Given the description of an element on the screen output the (x, y) to click on. 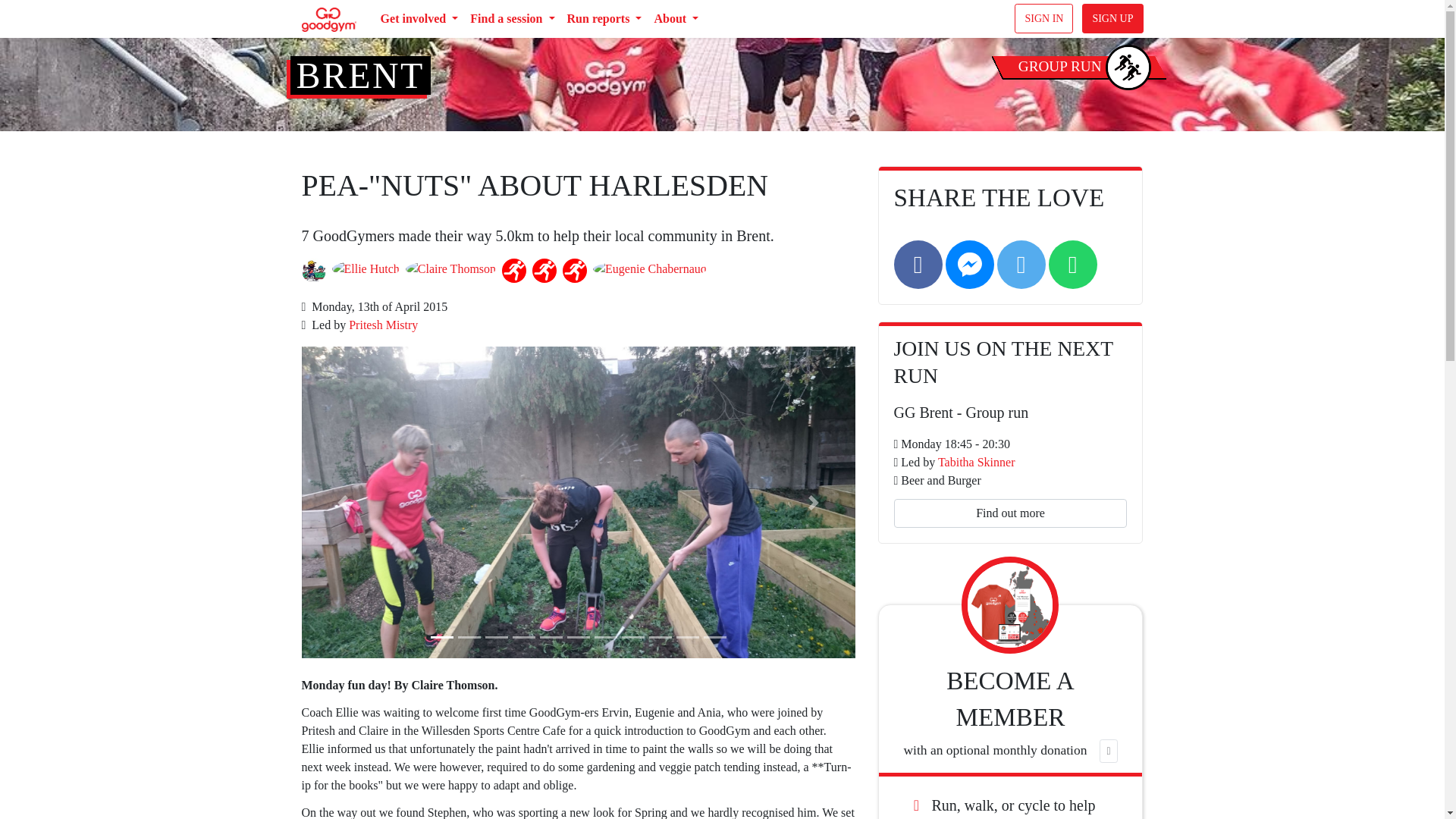
SIGN UP (1111, 18)
About (675, 19)
BRENT (359, 75)
Get involved (419, 19)
SIGN IN (1043, 18)
Run reports (603, 19)
Messenger (968, 264)
Find a session (512, 19)
